Given the description of an element on the screen output the (x, y) to click on. 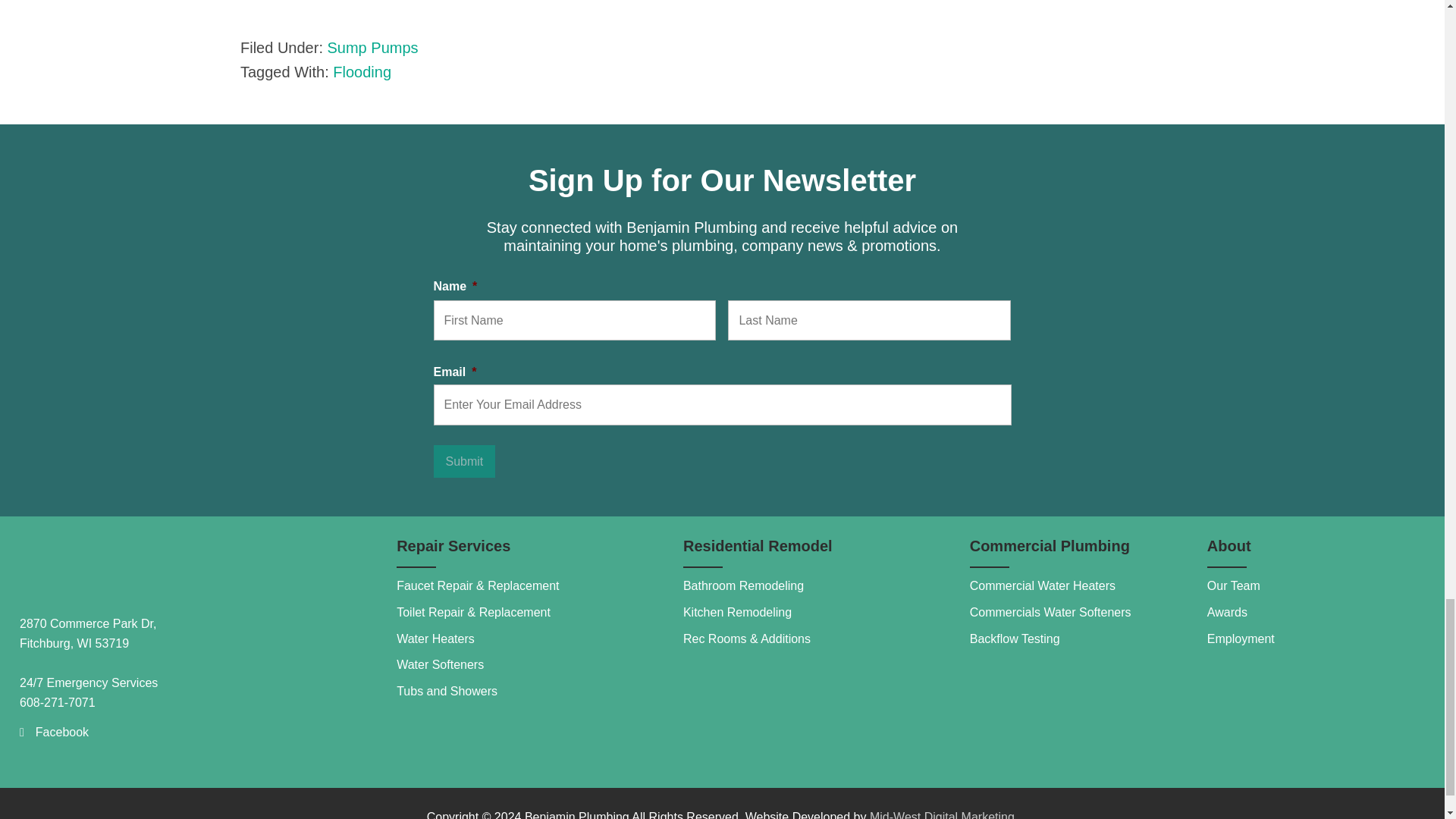
Benjamin Plumbing Logo (133, 565)
Submit (464, 461)
